Given the description of an element on the screen output the (x, y) to click on. 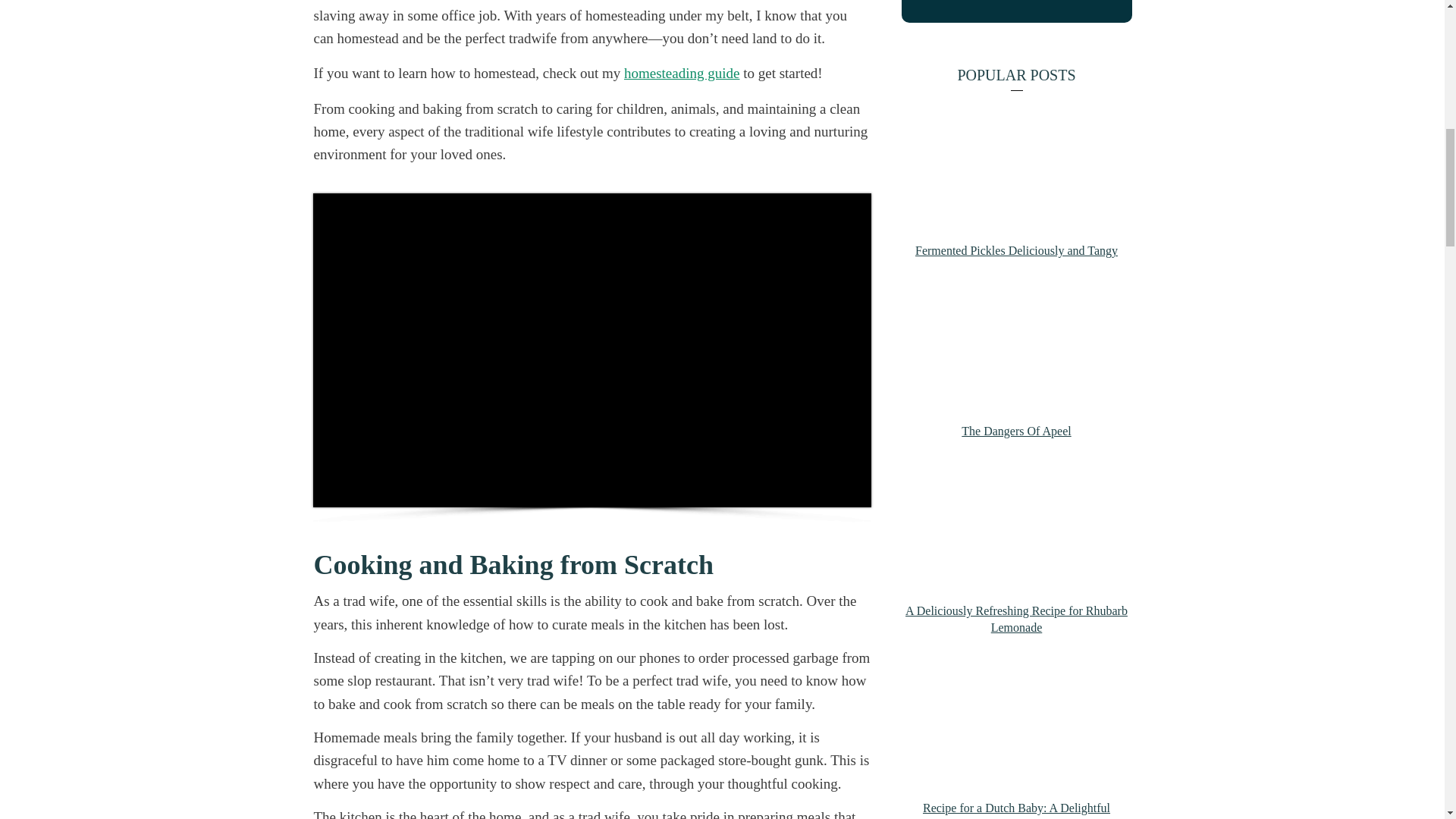
The Dangers Of Apeel (1015, 431)
The Dangers Of Apeel (1015, 431)
homesteading guide (681, 73)
A Deliciously Refreshing Recipe for Rhubarb Lemonade (1015, 618)
Fermented Pickles Deliciously and Tangy (1016, 250)
Recipe for a Dutch Baby: A Delightful Breakfast Treat (1016, 810)
Fermented Pickles Deliciously and Tangy (1016, 250)
